Given the description of an element on the screen output the (x, y) to click on. 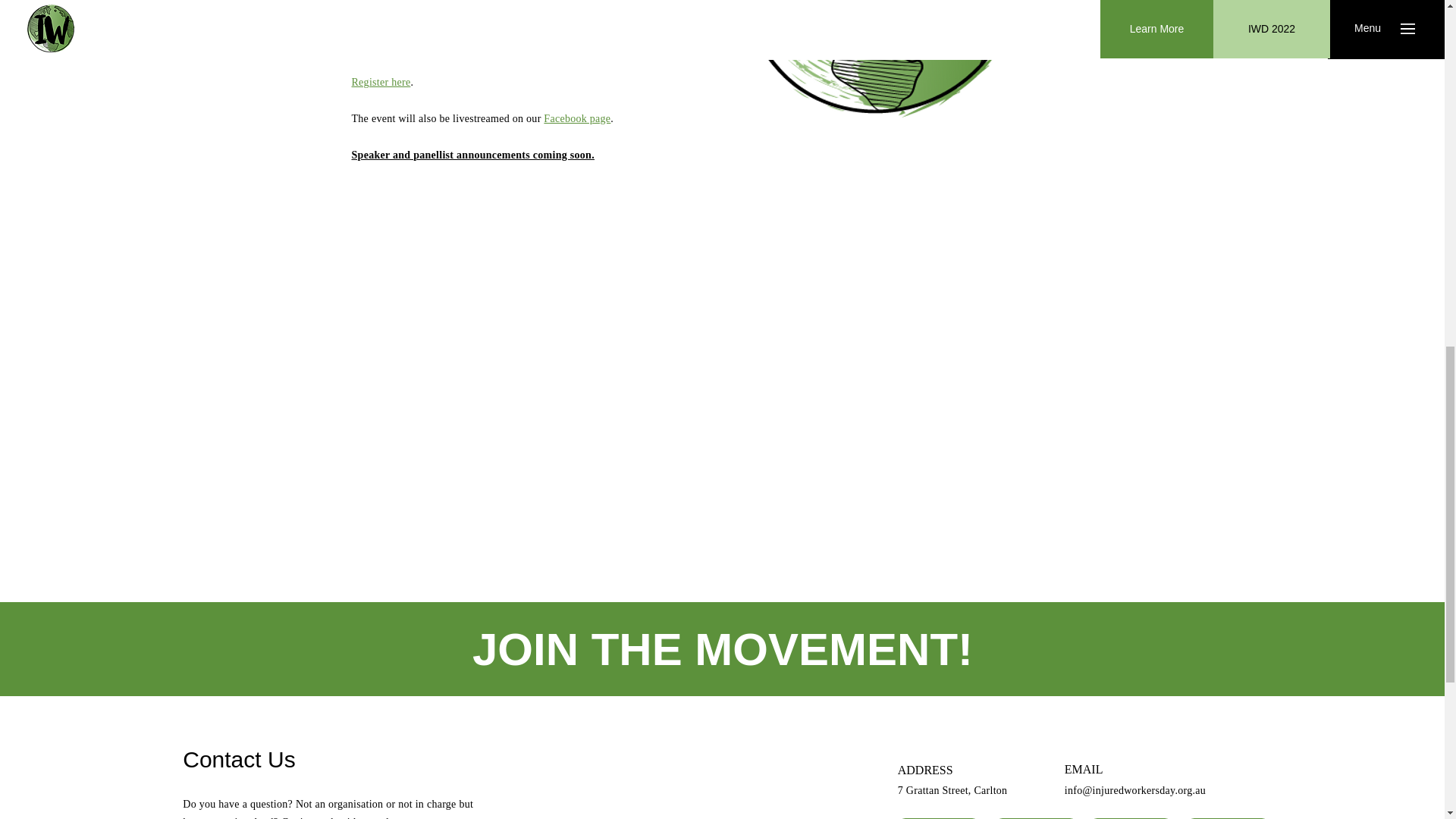
Register here (381, 81)
Facebook page (576, 118)
